Given the description of an element on the screen output the (x, y) to click on. 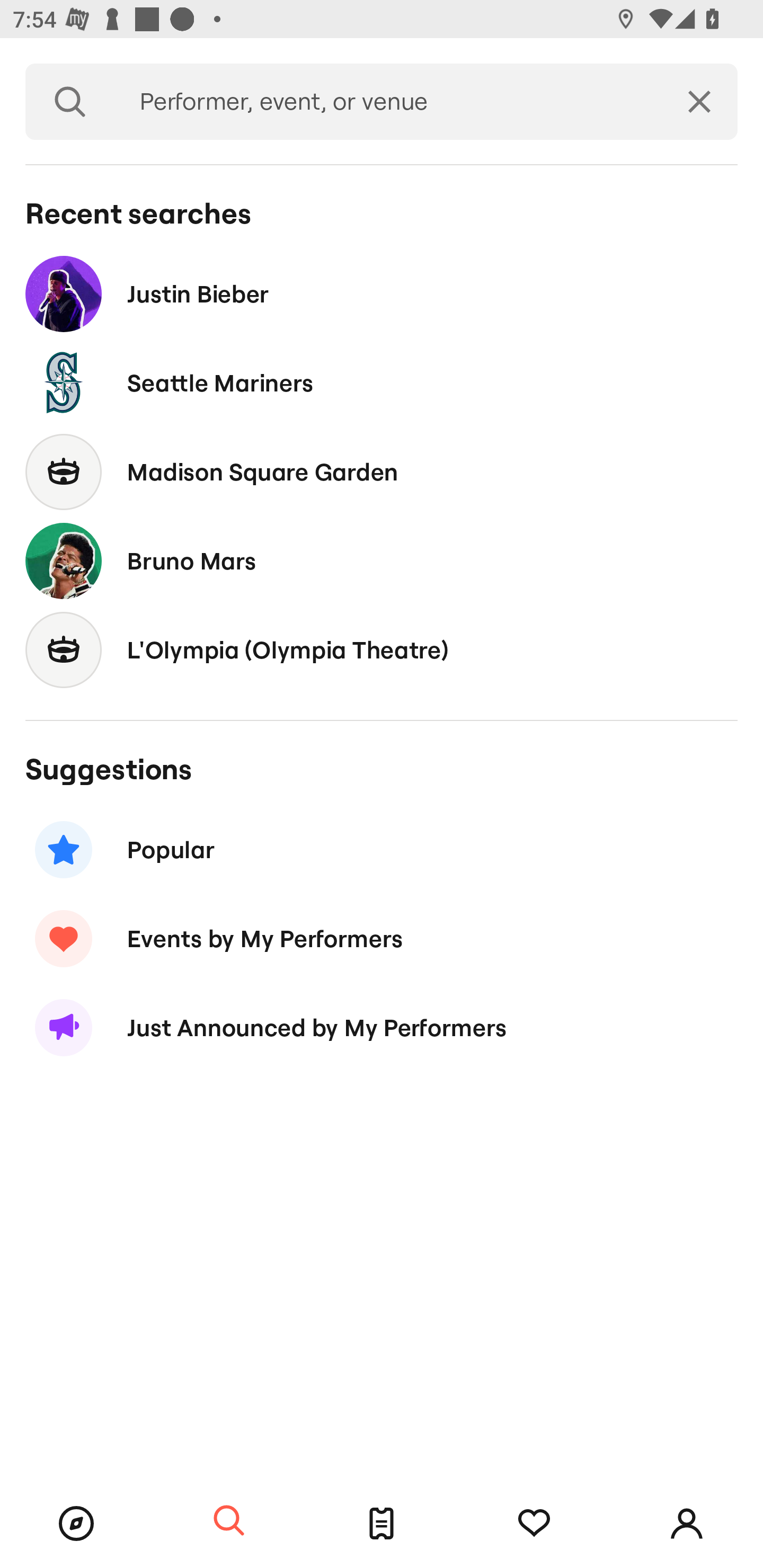
Search (69, 101)
Performer, event, or venue (387, 101)
Clear (699, 101)
Justin Bieber (381, 293)
Seattle Mariners (381, 383)
Madison Square Garden (381, 471)
Bruno Mars (381, 560)
L'Olympia (Olympia Theatre) (381, 649)
Popular (381, 849)
Events by My Performers (381, 938)
Just Announced by My Performers (381, 1027)
Browse (76, 1523)
Search (228, 1521)
Tickets (381, 1523)
Tracking (533, 1523)
Account (686, 1523)
